Given the description of an element on the screen output the (x, y) to click on. 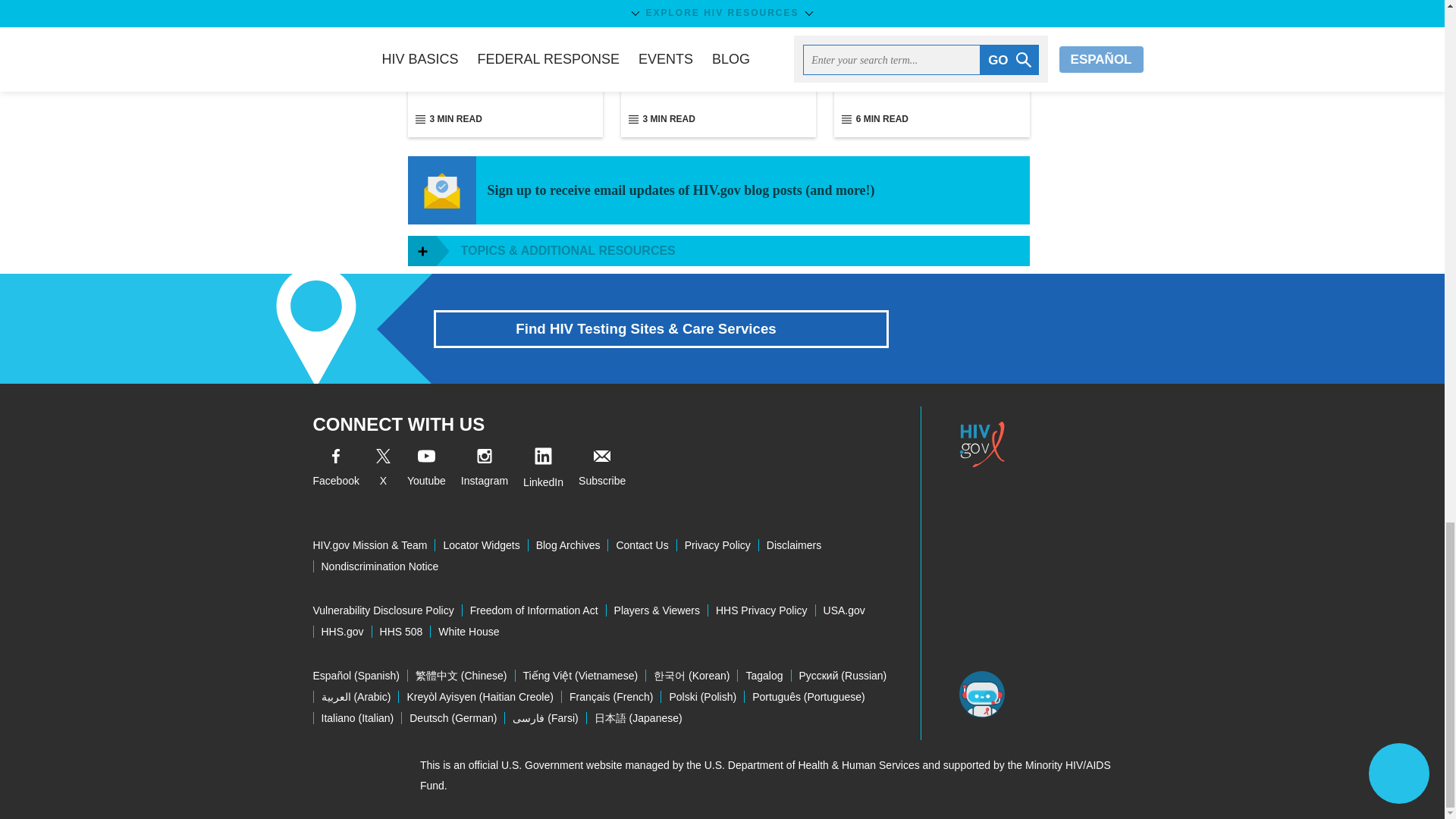
Visit to subscribe to HIV.gov email updates (602, 470)
Visit HIV.gov on Instagram (484, 470)
Visit HIV.gov on Facebook (335, 470)
